Given the description of an element on the screen output the (x, y) to click on. 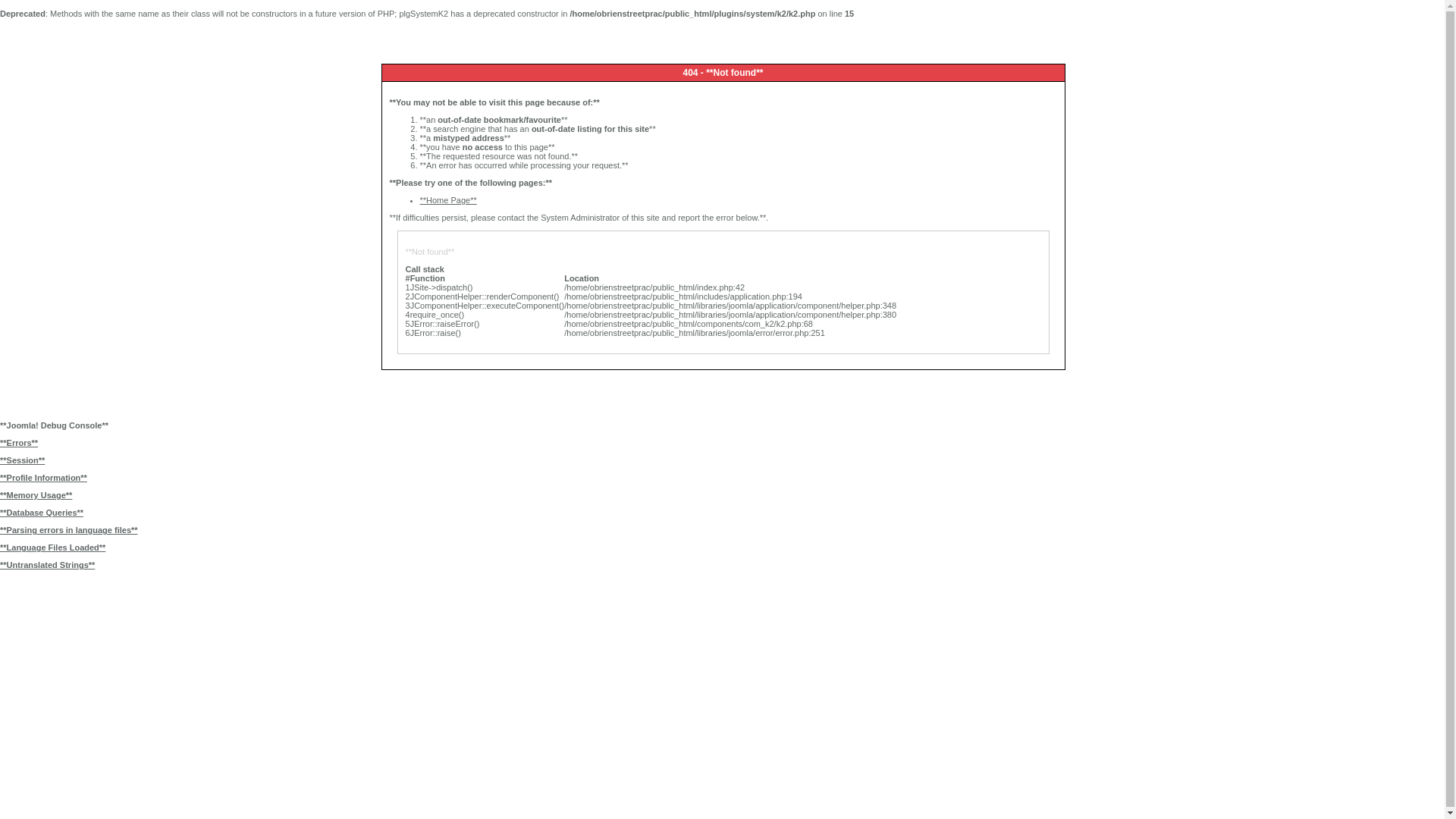
**Home Page** Element type: text (448, 199)
**Errors** Element type: text (722, 442)
**Session** Element type: text (722, 459)
**Parsing errors in language files** Element type: text (722, 529)
**Language Files Loaded** Element type: text (722, 547)
**Memory Usage** Element type: text (722, 494)
**Untranslated Strings** Element type: text (722, 564)
**Database Queries** Element type: text (722, 512)
**Profile Information** Element type: text (722, 477)
